Given the description of an element on the screen output the (x, y) to click on. 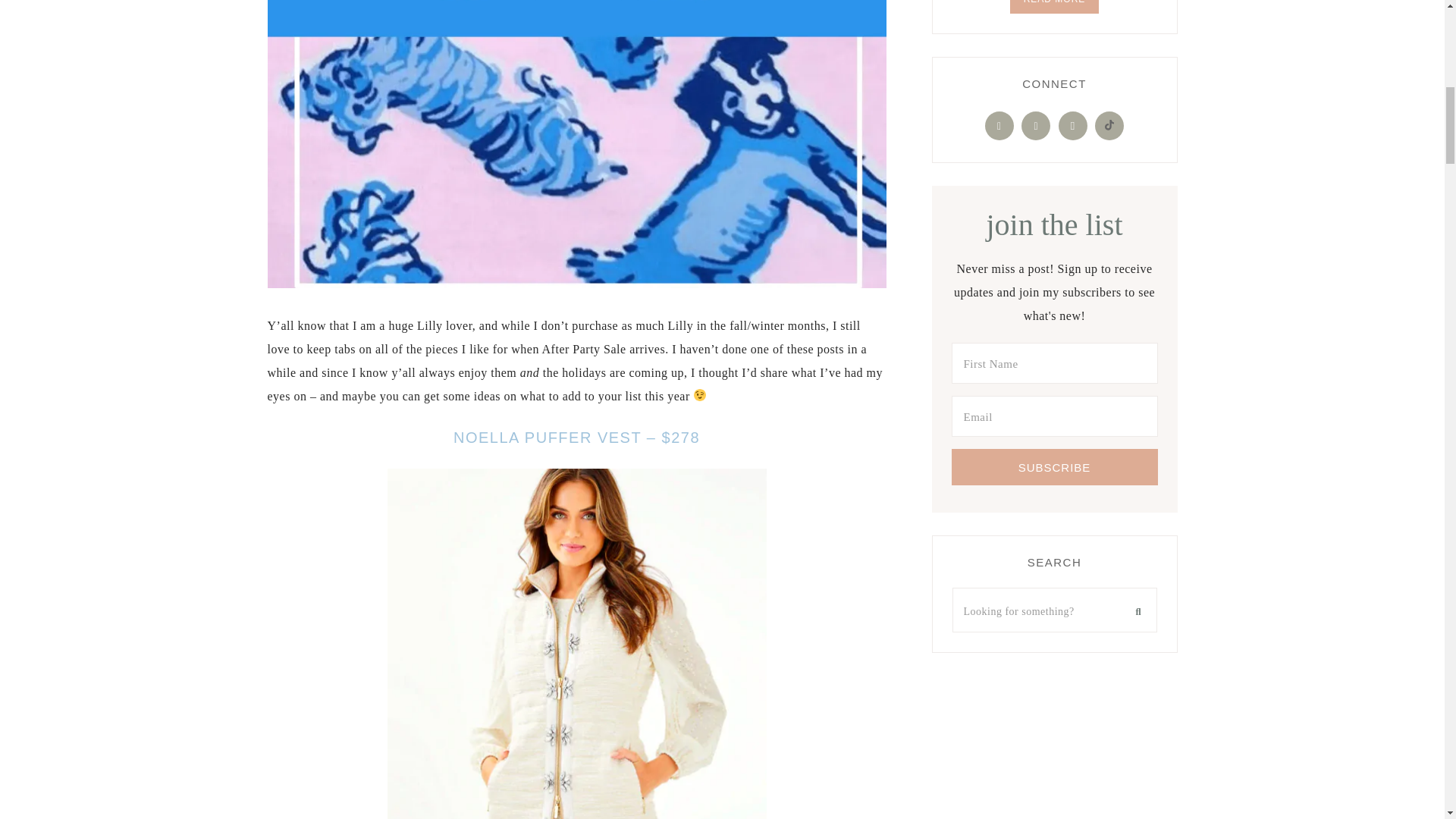
Subscribe (1053, 466)
